Given the description of an element on the screen output the (x, y) to click on. 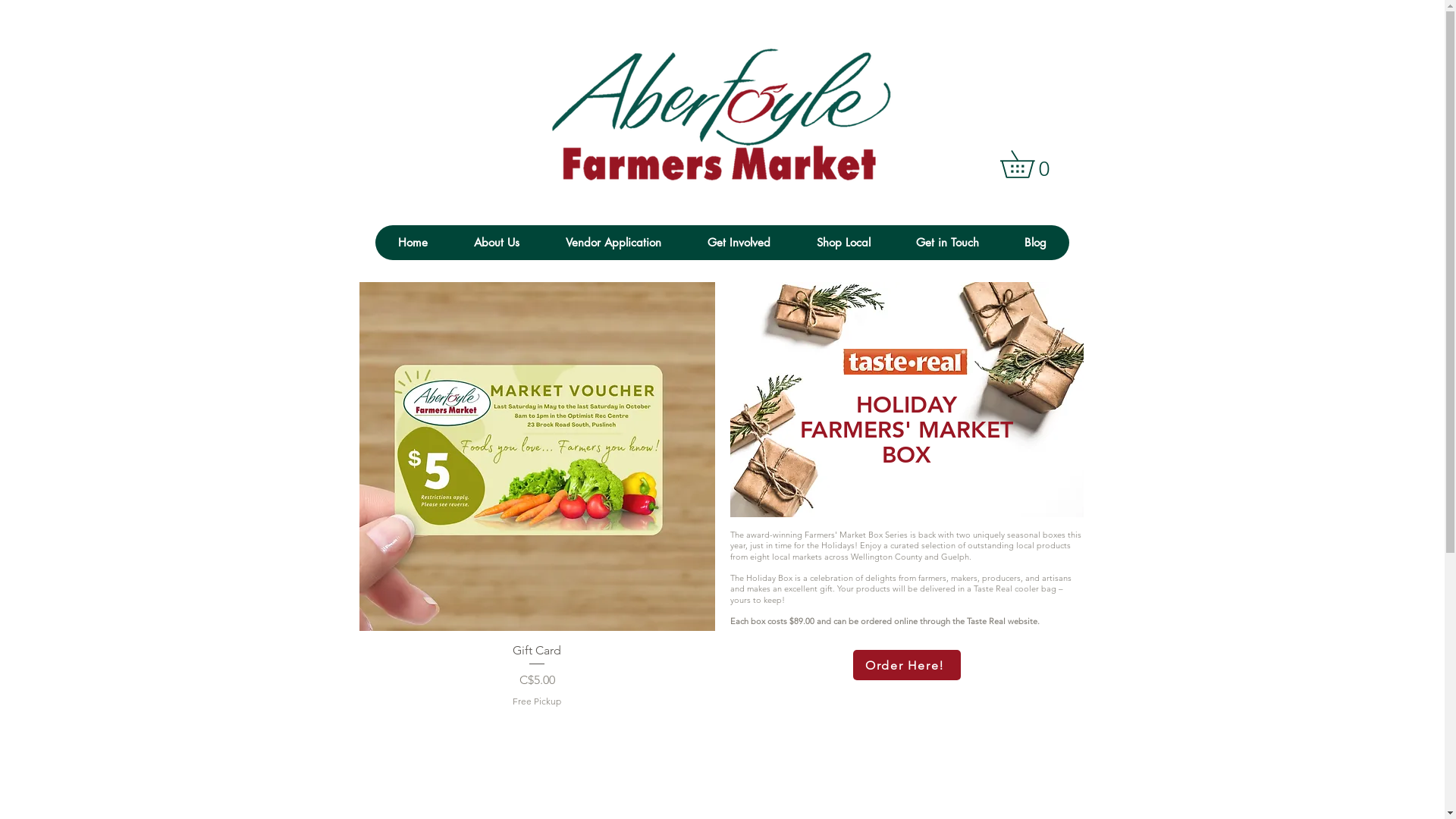
Wrapped Boxes_edited.jpg Element type: hover (905, 399)
Home Element type: text (411, 242)
Vendor Application Element type: text (612, 242)
Get in Touch Element type: text (947, 242)
Gift Card
Price
C$5.00
Free Pickup Element type: text (537, 675)
About Us Element type: text (496, 242)
Get Involved Element type: text (738, 242)
Shop Local Element type: text (843, 242)
Blog Element type: text (1034, 242)
Free Pickup Element type: text (536, 701)
0 Element type: text (1029, 164)
Order Here! Element type: text (906, 664)
